Given the description of an element on the screen output the (x, y) to click on. 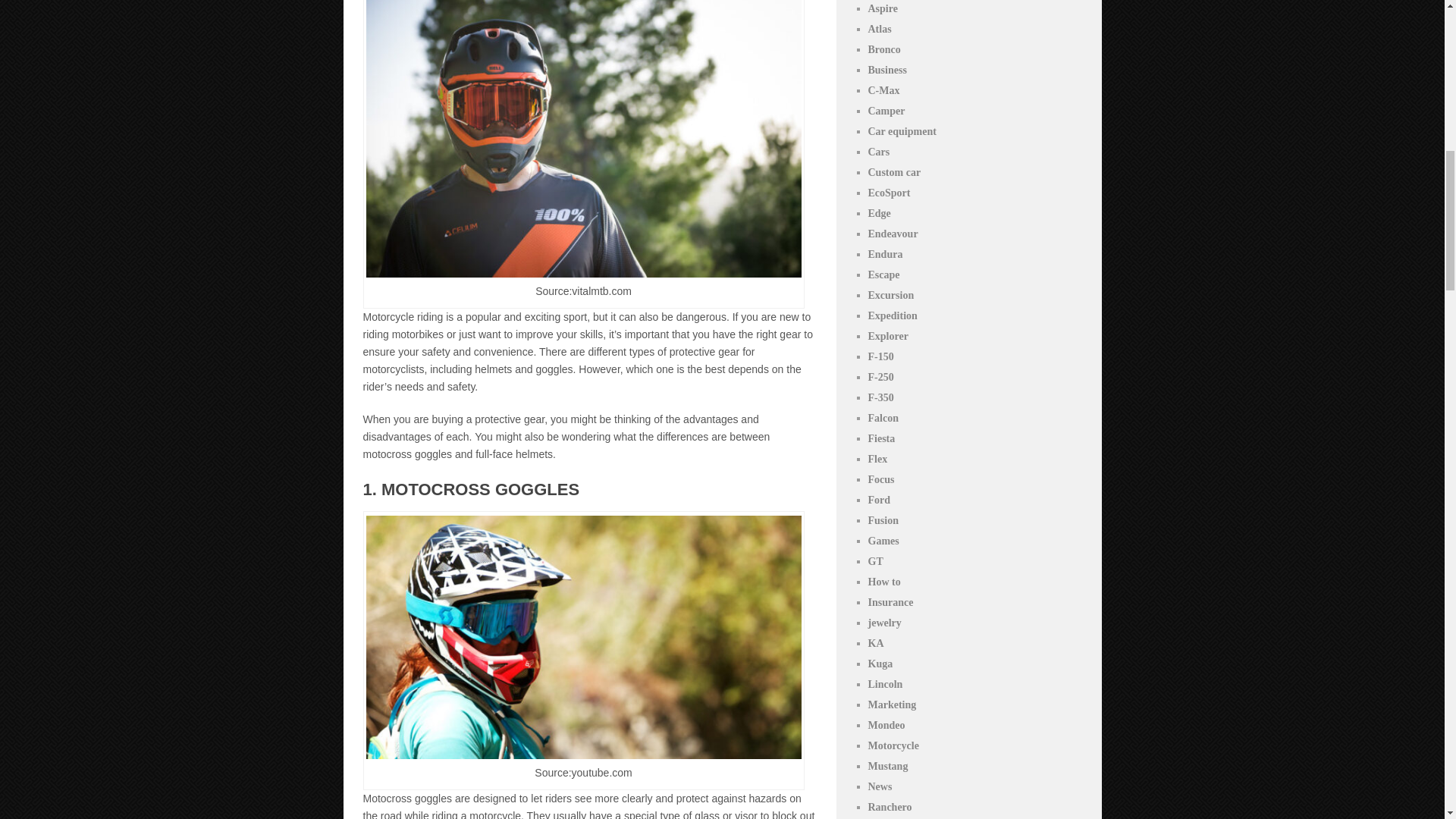
Motocross Goggles 630x352 (582, 637)
Motocross Goggles vs. Full Face Helmet 1 630x420 (582, 138)
